Given the description of an element on the screen output the (x, y) to click on. 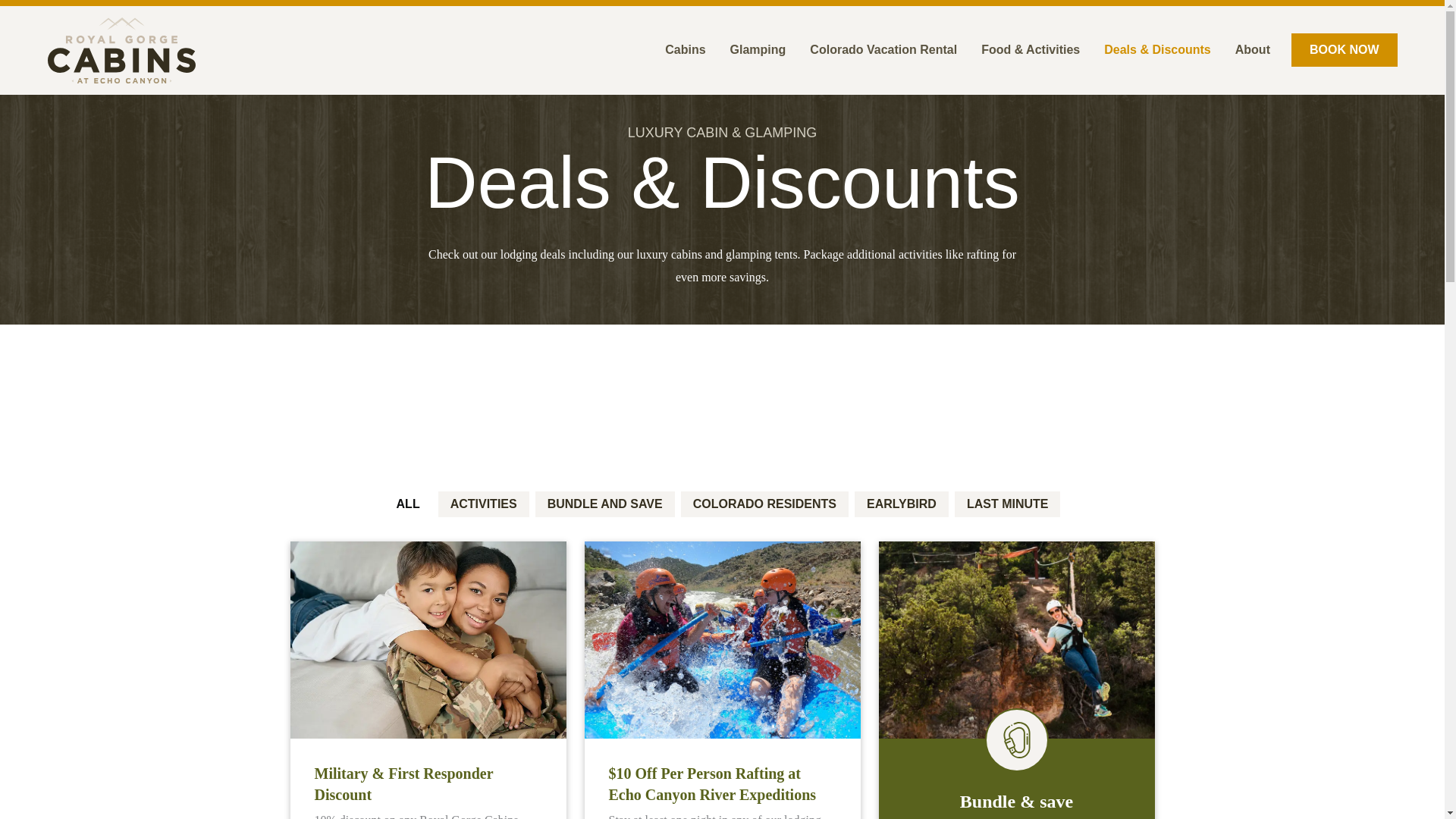
Colorado Vacation Rental (883, 49)
About (1252, 49)
Glamping (757, 49)
Cabins (684, 49)
BOOK NOW (1344, 49)
